Given the description of an element on the screen output the (x, y) to click on. 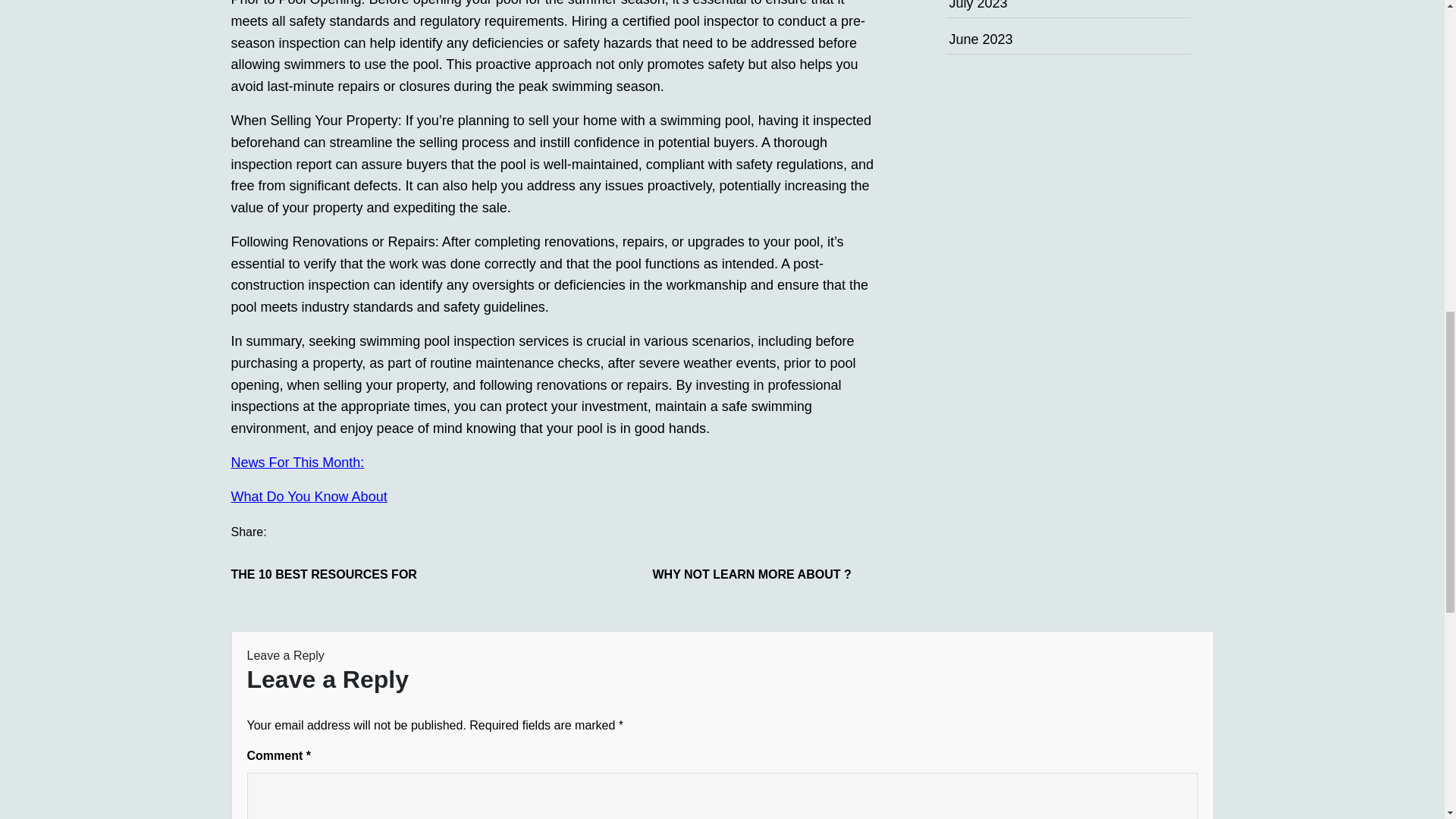
What Do You Know About (308, 496)
July 2023 (978, 5)
THE 10 BEST RESOURCES FOR (344, 574)
WHY NOT LEARN MORE ABOUT ? (765, 574)
June 2023 (981, 38)
News For This Month: (297, 462)
